Given the description of an element on the screen output the (x, y) to click on. 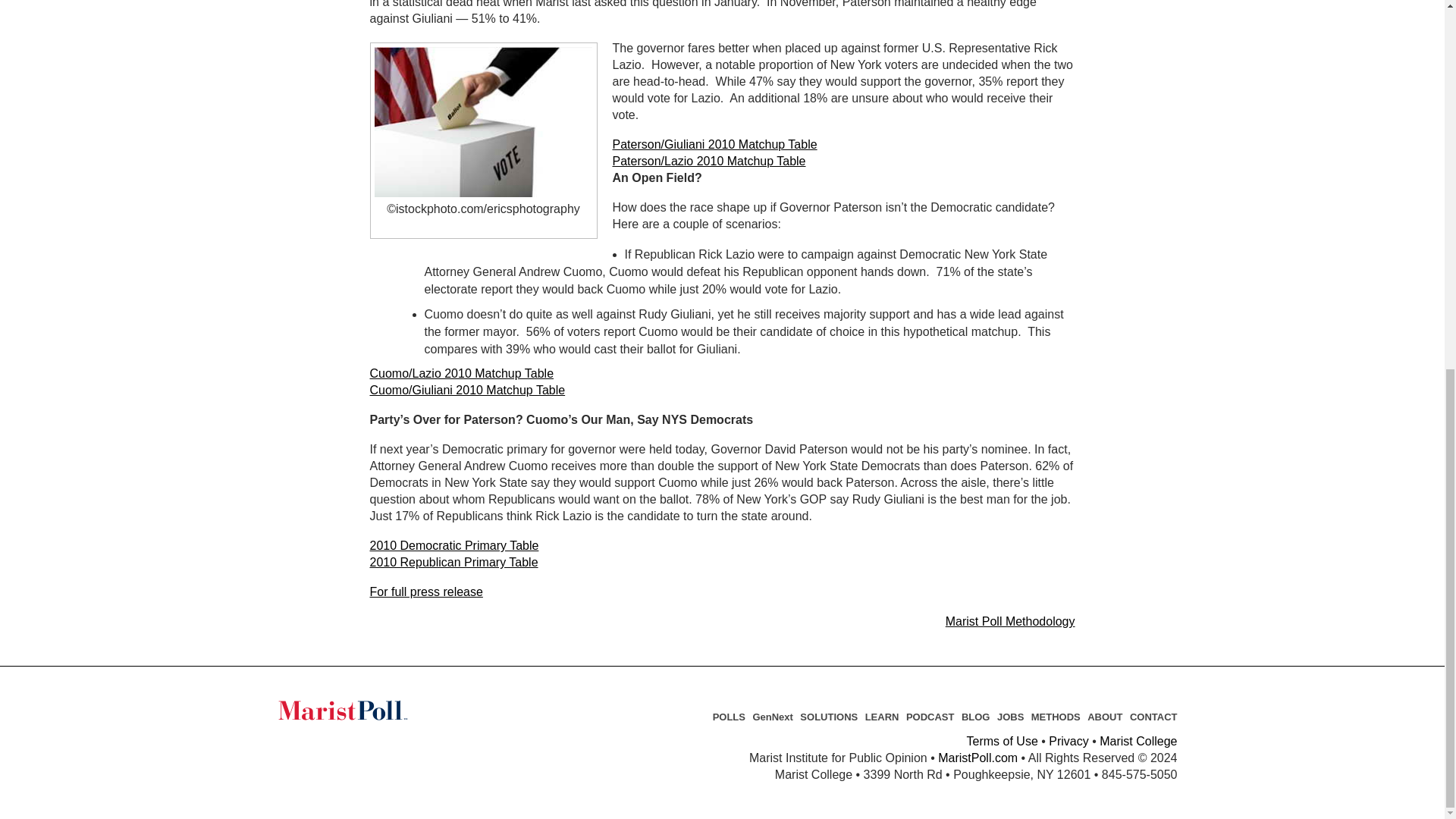
SOLUTIONS (828, 716)
2010 Democratic Primary Table (453, 545)
JOBS (1010, 716)
BLOG (975, 716)
CONTACT (1153, 716)
GenNext (772, 716)
Marist Poll Methodology (1009, 621)
METHODS (1055, 716)
Home of the Marist Poll (372, 710)
LEARN (881, 716)
